Given the description of an element on the screen output the (x, y) to click on. 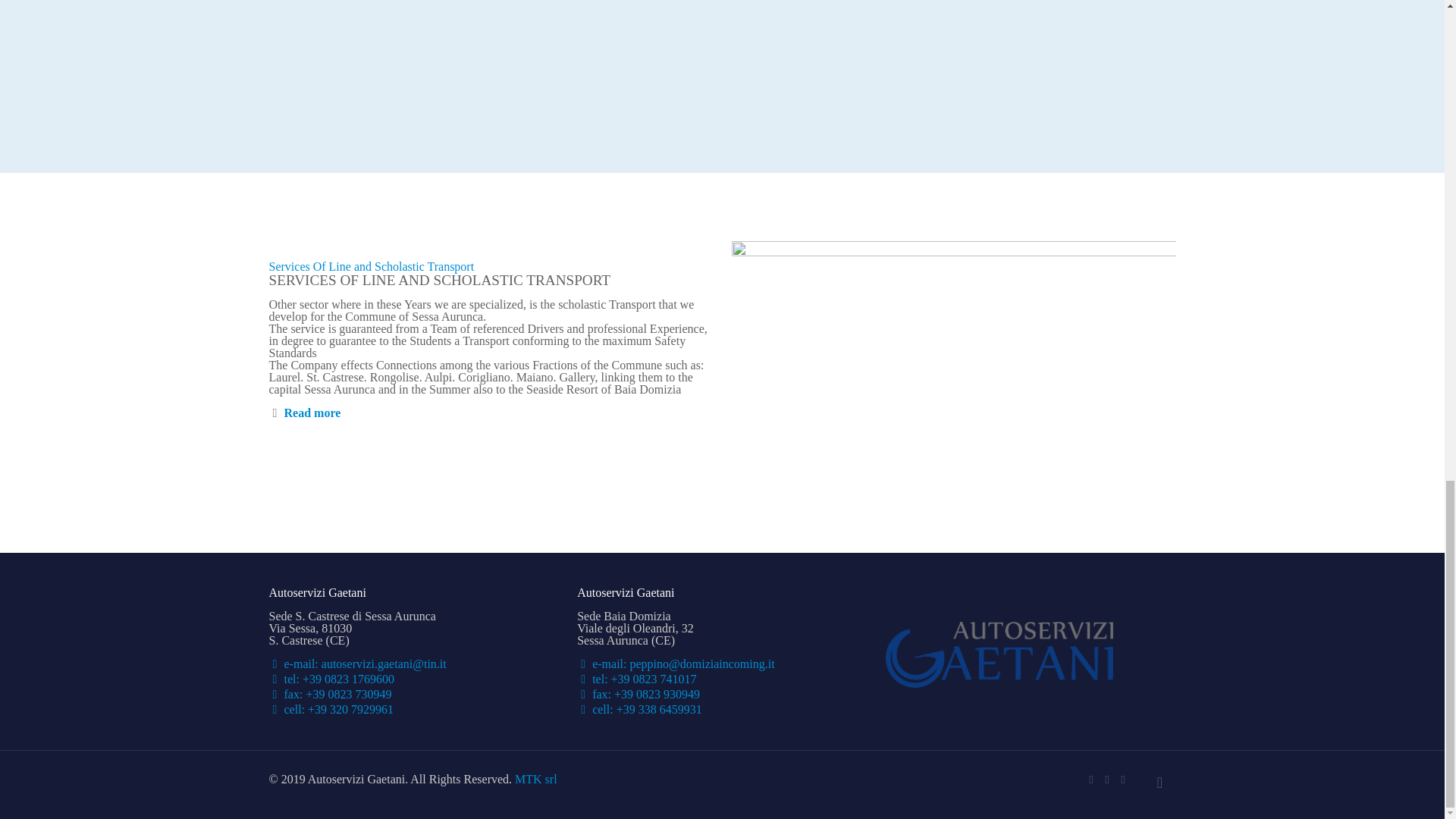
Services Of Line and Scholastic Transport (370, 266)
Facebook (1091, 779)
Instagram (1123, 779)
Read more (311, 412)
MTK srl (536, 779)
